Given the description of an element on the screen output the (x, y) to click on. 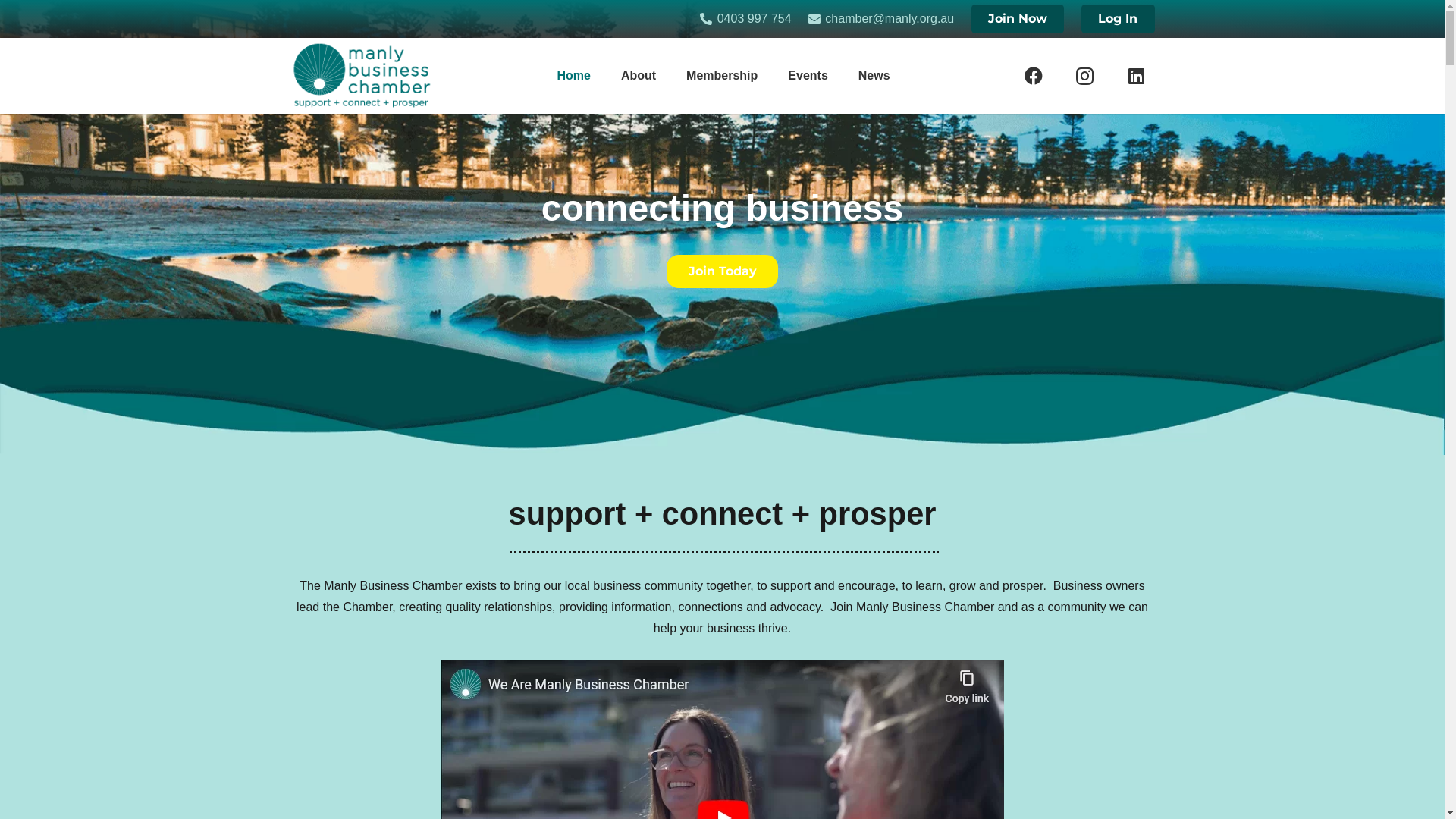
Membership Element type: text (721, 75)
Events Element type: text (807, 75)
Facebook Element type: hover (1033, 75)
LinkedIn Element type: hover (1136, 75)
0403 997 754 Element type: text (744, 18)
Join Now Element type: text (1017, 18)
Instagram Element type: hover (1084, 75)
Join Today Element type: text (722, 271)
Home Element type: text (573, 75)
Log In Element type: text (1117, 18)
News Element type: text (874, 75)
About Element type: text (638, 75)
chamber@manly.org.au Element type: text (880, 18)
